Given the description of an element on the screen output the (x, y) to click on. 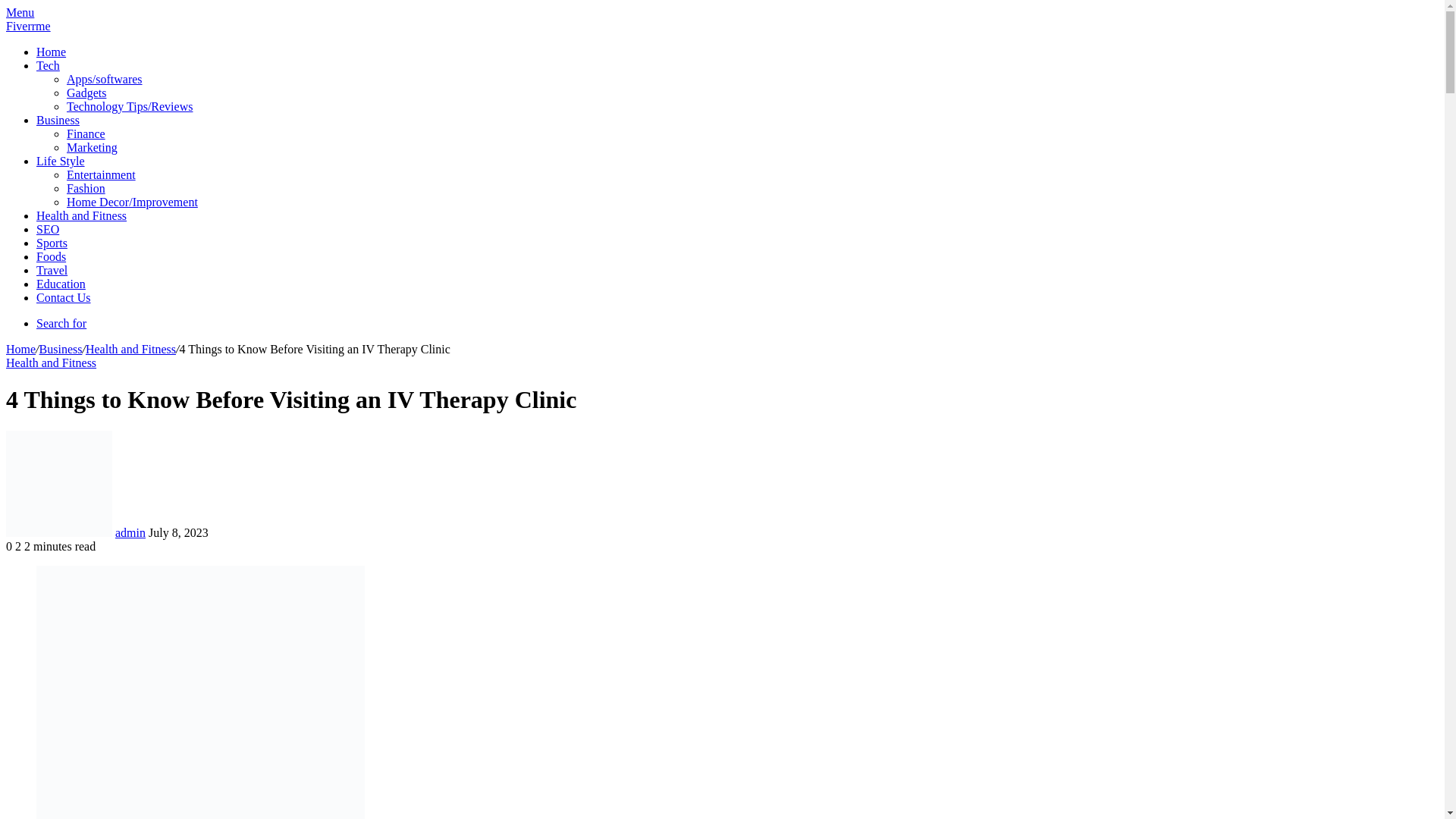
Fashion (85, 187)
SEO (47, 228)
Home (19, 349)
Gadgets (86, 92)
Search for (60, 323)
Contact Us (63, 297)
Sports (51, 242)
admin (130, 532)
Entertainment (100, 174)
Finance (85, 133)
Marketing (91, 146)
Home (50, 51)
Health and Fitness (130, 349)
Health and Fitness (81, 215)
Life Style (60, 160)
